Given the description of an element on the screen output the (x, y) to click on. 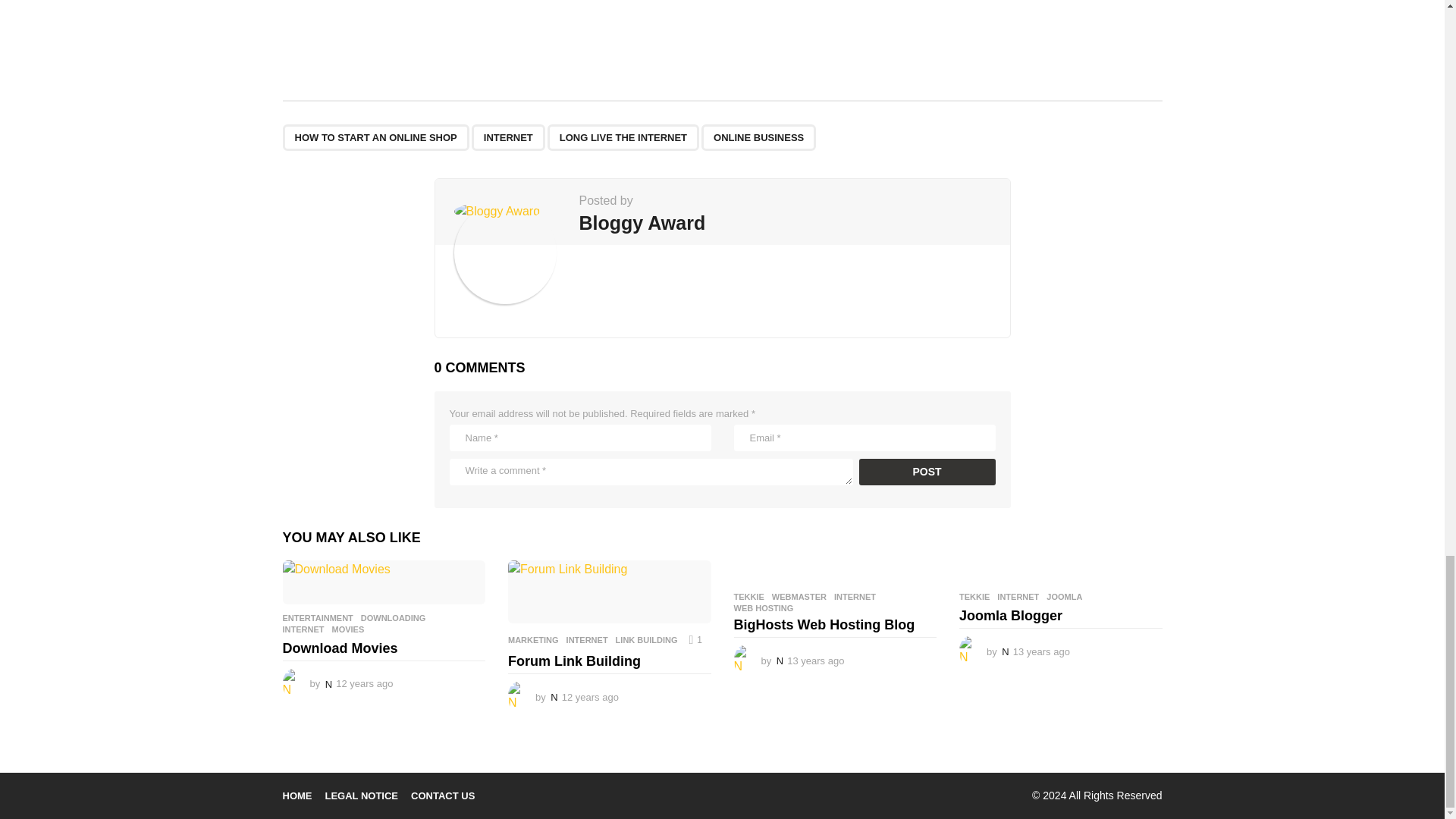
Forum Link Building (609, 591)
ONLINE BUSINESS (758, 137)
Bloggy Award (642, 222)
Post (926, 471)
LONG LIVE THE INTERNET (622, 137)
DOWNLOADING (393, 617)
INTERNET (507, 137)
MOVIES (348, 628)
Download Movies (383, 582)
ENTERTAINMENT (317, 617)
INTERNET (302, 628)
HOW TO START AN ONLINE SHOP (375, 137)
Post (926, 471)
